Given the description of an element on the screen output the (x, y) to click on. 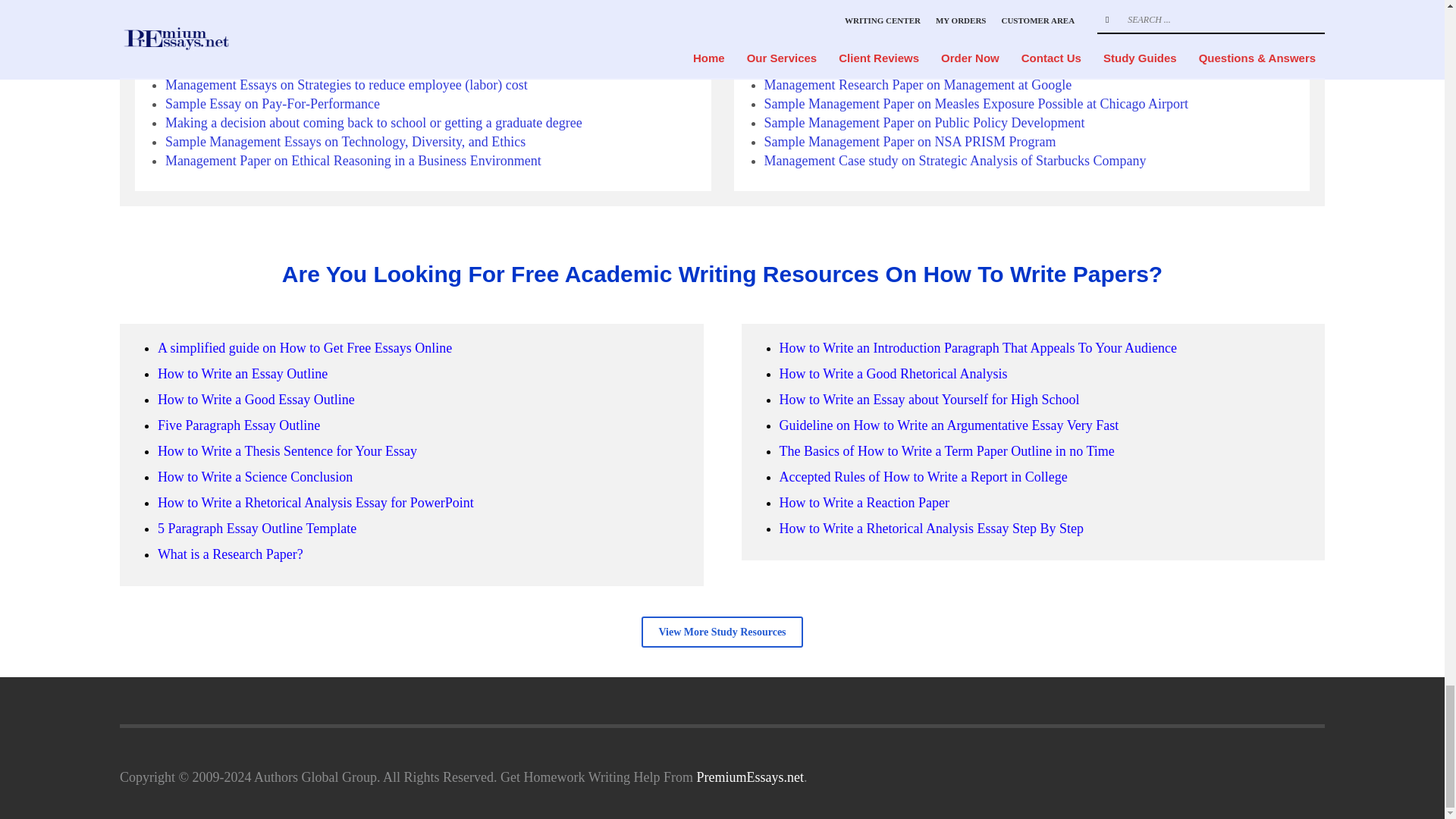
Essay Assignment on Workplace stress (271, 46)
Sample Management Paper on Instances of Sexual Harassment (337, 8)
Sample Management Paper on Organizational Development (329, 65)
Research paper Assignment on Cross-Cultural Management (328, 28)
Sample Essay on Pay-For-Performance (272, 103)
